Given the description of an element on the screen output the (x, y) to click on. 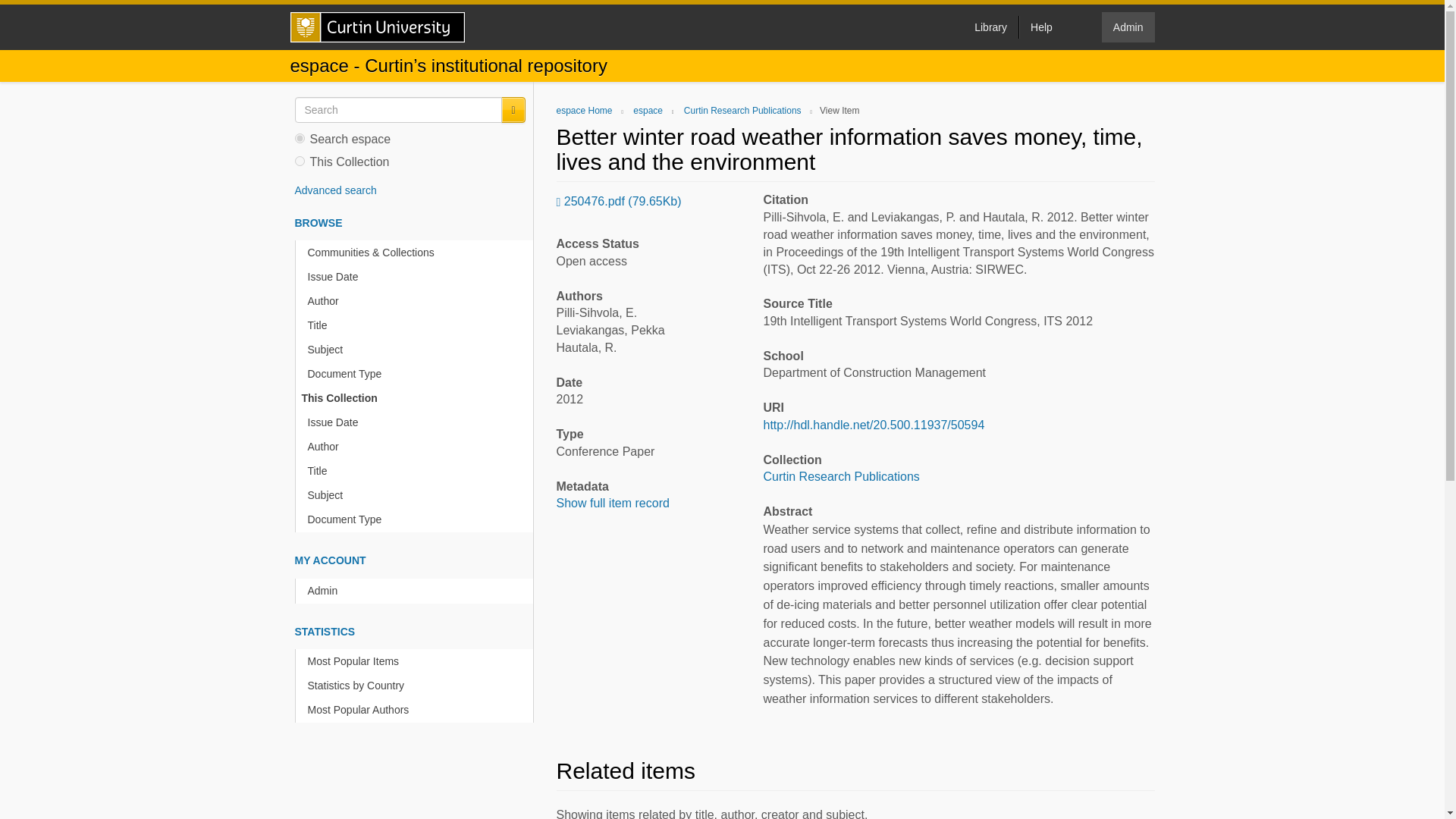
Library (989, 26)
Show full item record (612, 502)
Author (416, 446)
espace (647, 110)
Document Type (416, 373)
Curtin Research Publications (743, 110)
Curtin University Homepage (376, 27)
Help (1040, 26)
Advanced search (334, 190)
Subject (416, 495)
